Given the description of an element on the screen output the (x, y) to click on. 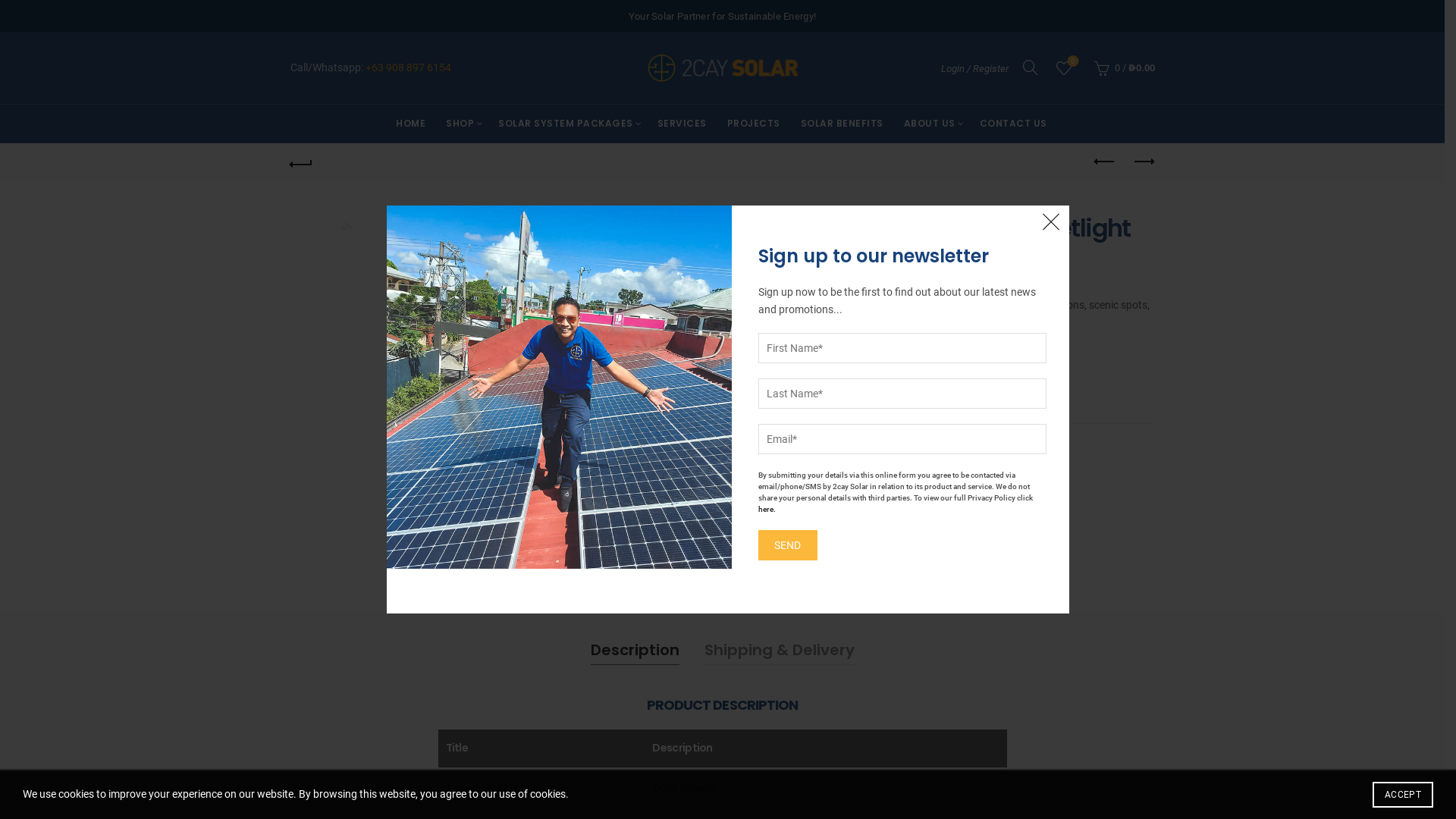
here. Element type: text (766, 509)
SHOP Element type: text (459, 123)
HOME Element type: text (410, 123)
2cay solar Integrated Solar 60 watt Streetlight Element type: hover (554, 364)
ACCEPT Element type: text (1402, 794)
Description Element type: text (633, 649)
Back Element type: text (301, 162)
ADD TO CART Element type: text (857, 360)
Login / Register Element type: text (973, 68)
PROJECTS Element type: text (753, 123)
SOLAR SYSTEM PACKAGES Element type: text (565, 123)
Wishlist
0 Element type: text (1063, 67)
Previous product Element type: text (1104, 162)
2cay solar Integrated Solar 60 watt Streetlight Element type: hover (333, 260)
Solar Street Lights Element type: text (827, 487)
Shipping & Delivery Element type: text (778, 649)
+63 908 897 6154 Element type: text (408, 67)
SERVICES Element type: text (681, 123)
SOLAR BENEFITS Element type: text (841, 123)
ABOUT US Element type: text (929, 123)
Click to enlarge Element type: text (684, 492)
Send Element type: text (787, 545)
Qty Element type: hover (764, 360)
Integrated Element type: text (846, 519)
Search Element type: text (30, 45)
Add to wishlist Element type: text (966, 361)
Aluminum Element type: text (788, 519)
CONTACT US Element type: text (1013, 123)
Next product Element type: text (1142, 162)
Compare Element type: text (765, 401)
